Given the description of an element on the screen output the (x, y) to click on. 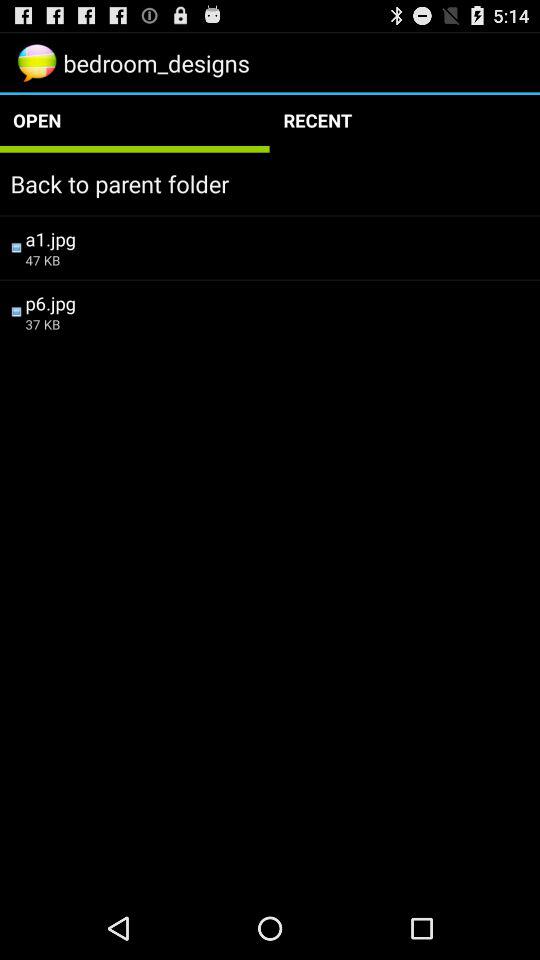
select the item at the center (277, 324)
